Given the description of an element on the screen output the (x, y) to click on. 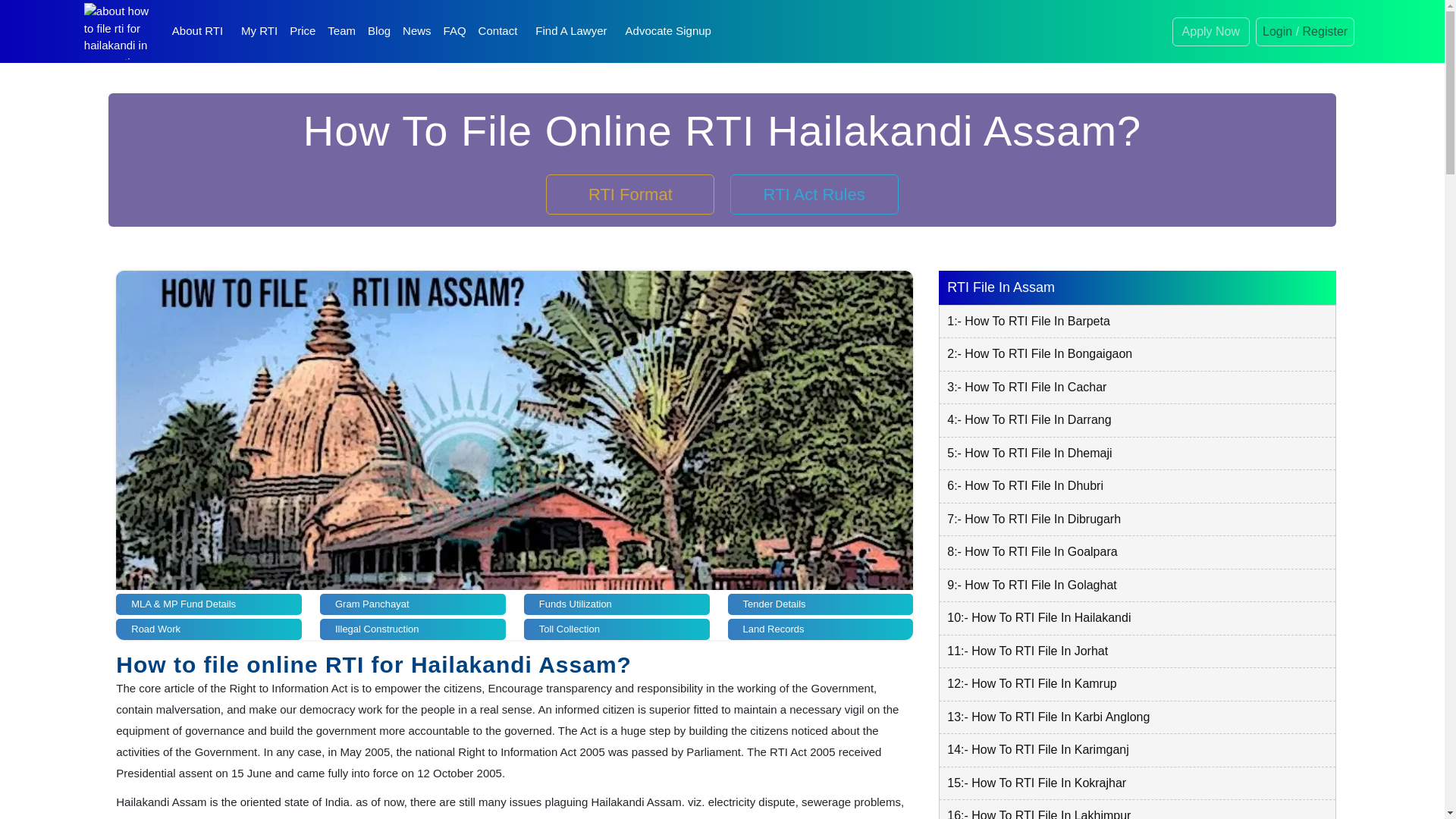
Contact (497, 30)
Blog (378, 30)
FAQ (454, 30)
Register (1325, 30)
Illegal Construction (412, 629)
RTI Act Rules (814, 194)
Login (1277, 30)
Funds Utilization (617, 604)
About RTI (197, 30)
Gram Panchayat (412, 604)
Tender Details (821, 604)
My RTI (258, 30)
Find A Lawyer (570, 30)
Advocate Signup (668, 30)
RTI Format (630, 194)
